Given the description of an element on the screen output the (x, y) to click on. 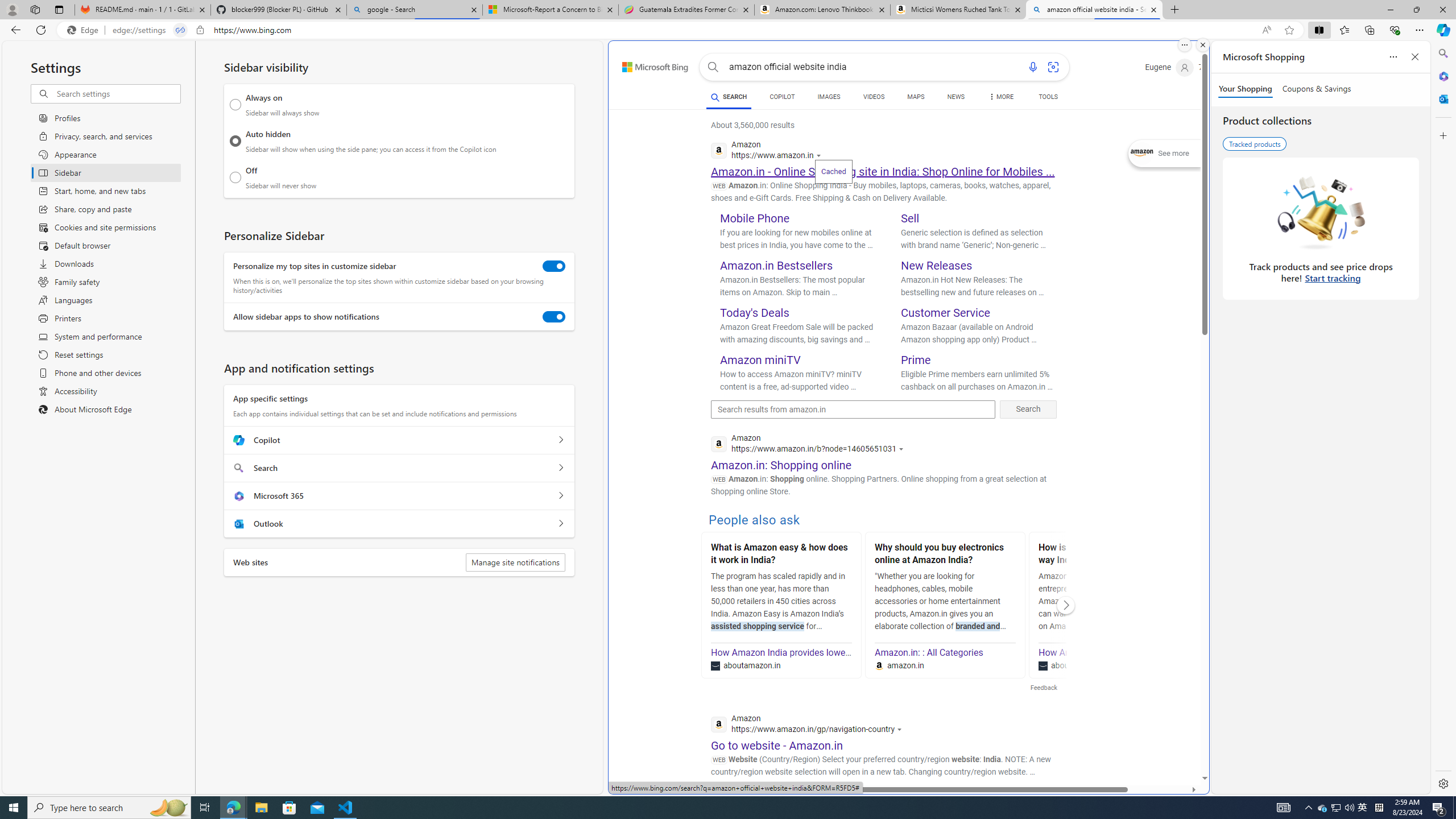
Personal Profile (12, 9)
Why should you buy electronics online at Amazon India? (945, 555)
Tabs in split screen (180, 29)
Search using voice (1032, 66)
Always on Sidebar will always show (235, 104)
Sell (910, 218)
Prime (915, 359)
SEARCH (728, 96)
Edge (84, 29)
Search more (1179, 744)
Split screen (1318, 29)
Off Sidebar will never show (235, 177)
